Given the description of an element on the screen output the (x, y) to click on. 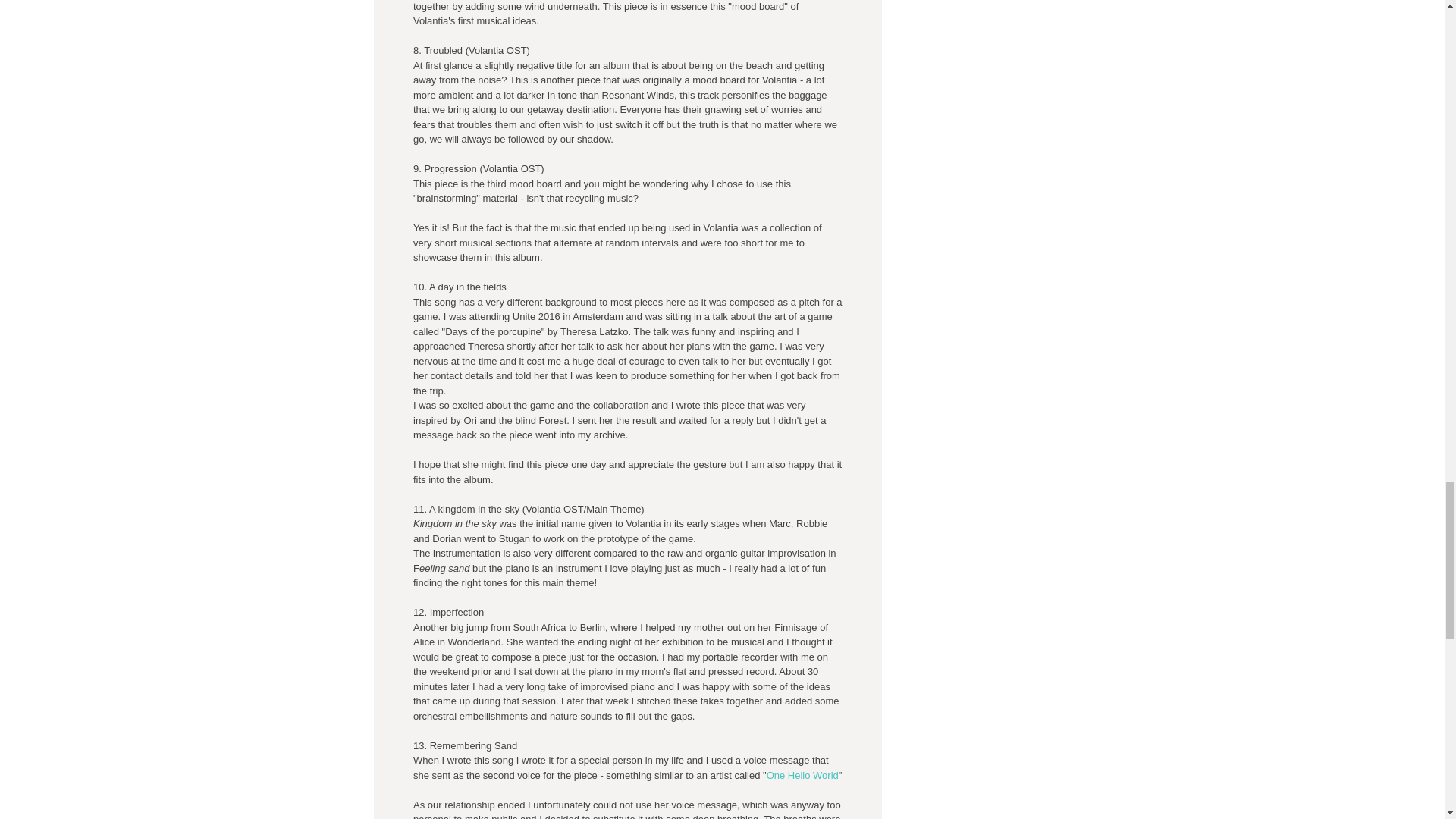
One Hello World (801, 775)
